Given the description of an element on the screen output the (x, y) to click on. 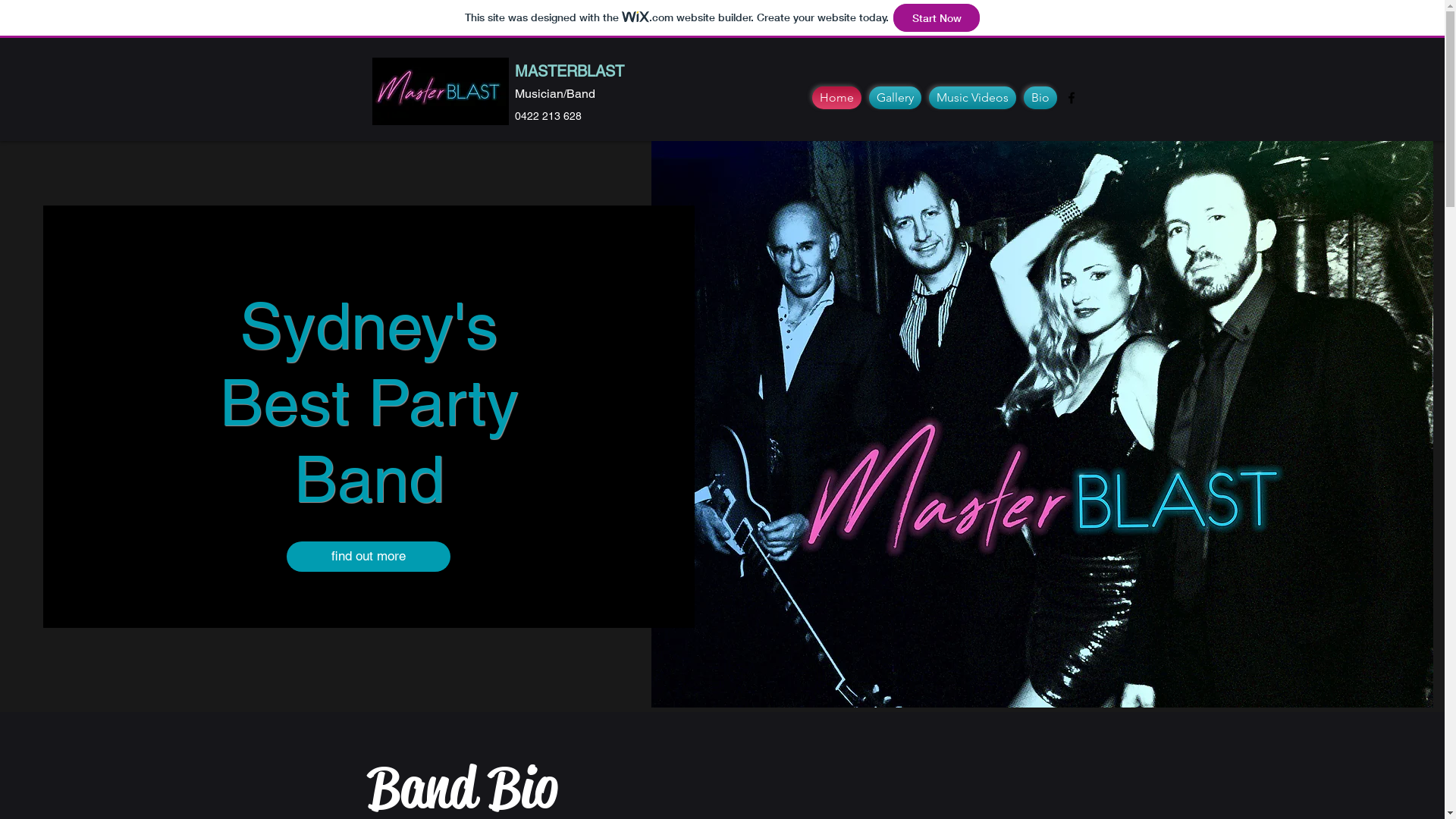
Music Videos Element type: text (972, 97)
Gallery Element type: text (894, 97)
Bio Element type: text (1037, 97)
find out more Element type: text (368, 556)
Home Element type: text (836, 97)
